Given the description of an element on the screen output the (x, y) to click on. 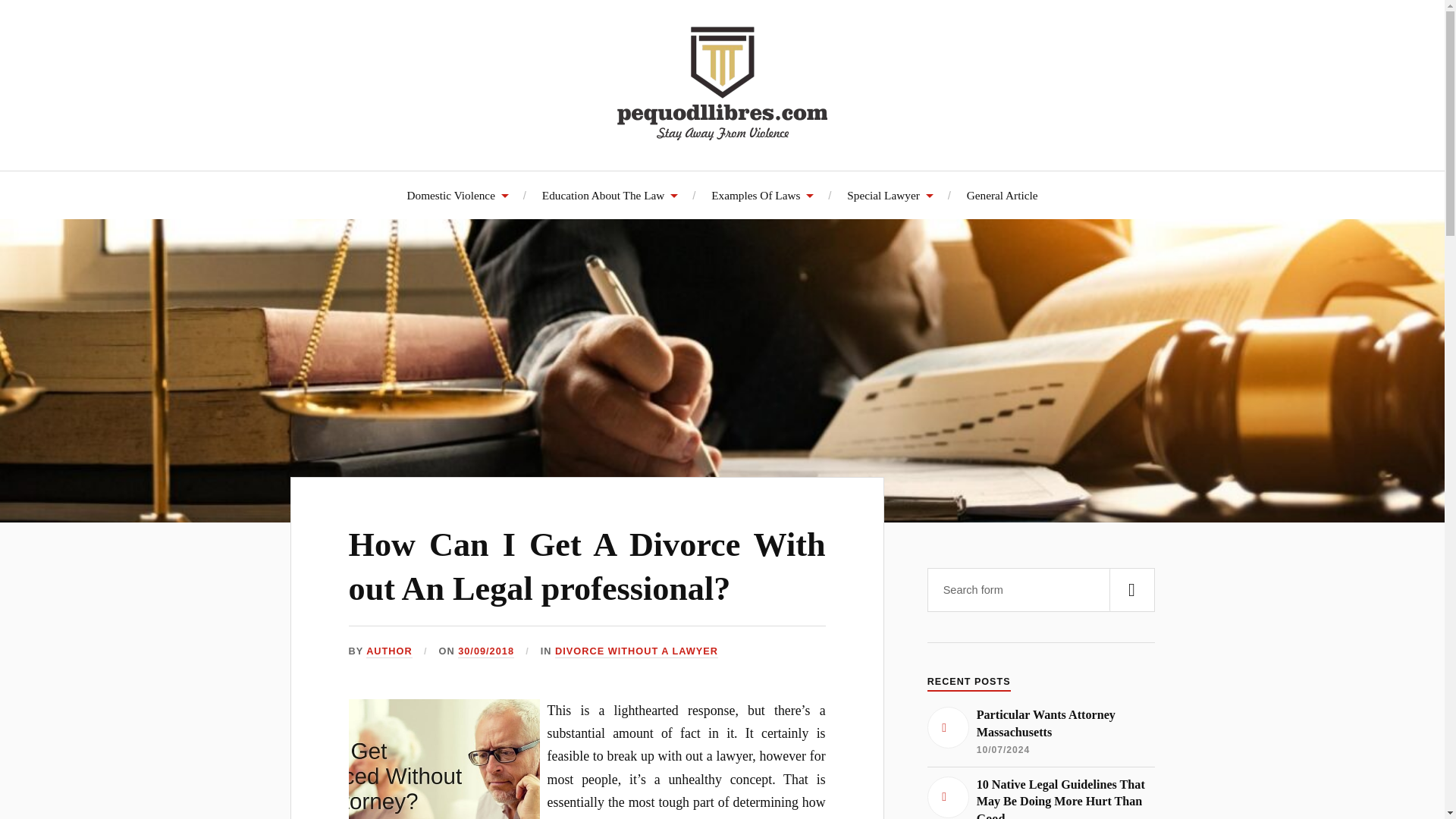
Posts by Author (389, 651)
Domestic Violence (457, 195)
Education About The Law (609, 195)
